Given the description of an element on the screen output the (x, y) to click on. 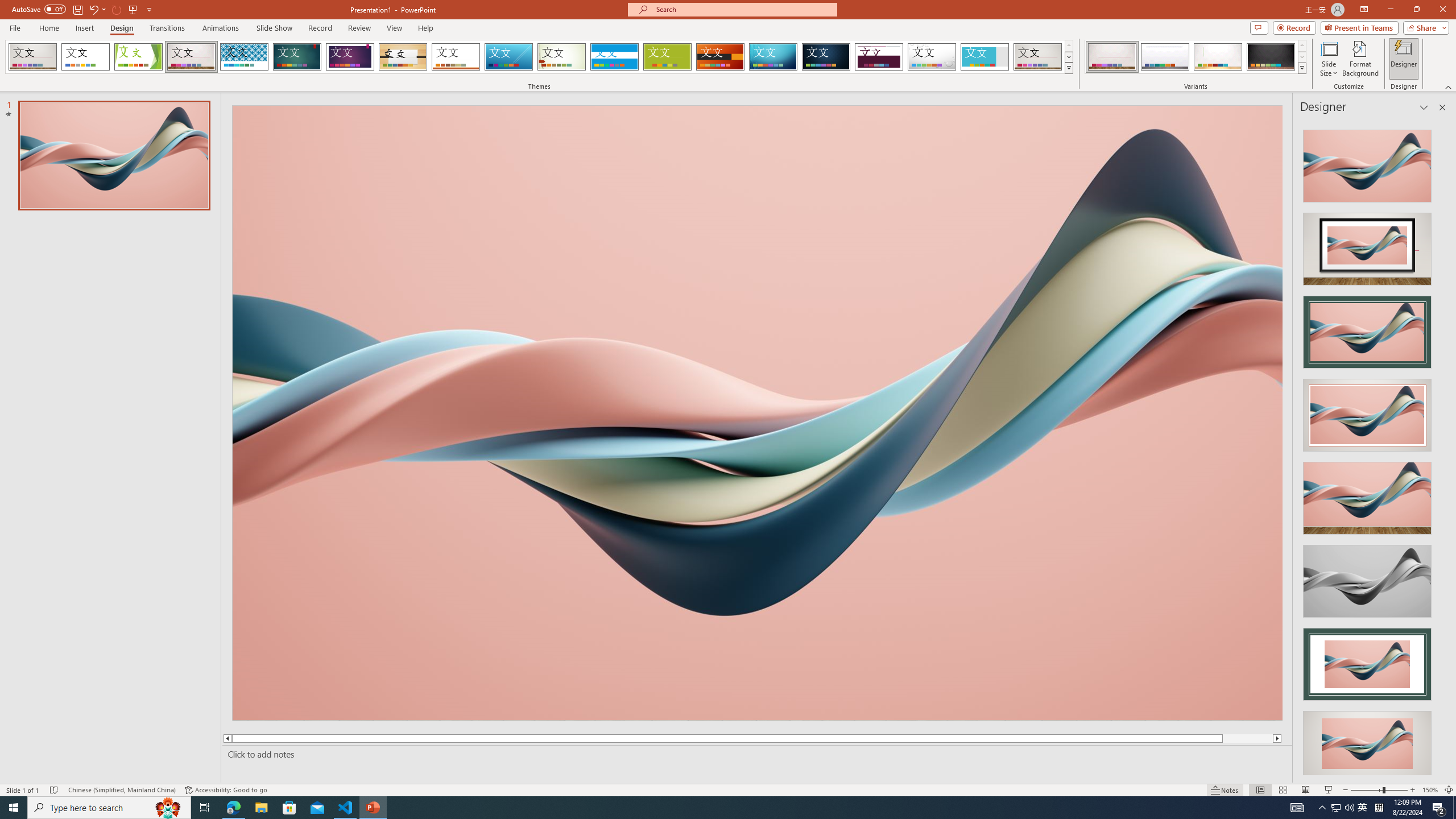
Slice (508, 56)
Facet (138, 56)
Frame (984, 56)
Slide Size (1328, 58)
Wisp (561, 56)
Ion (296, 56)
Damask (826, 56)
